Given the description of an element on the screen output the (x, y) to click on. 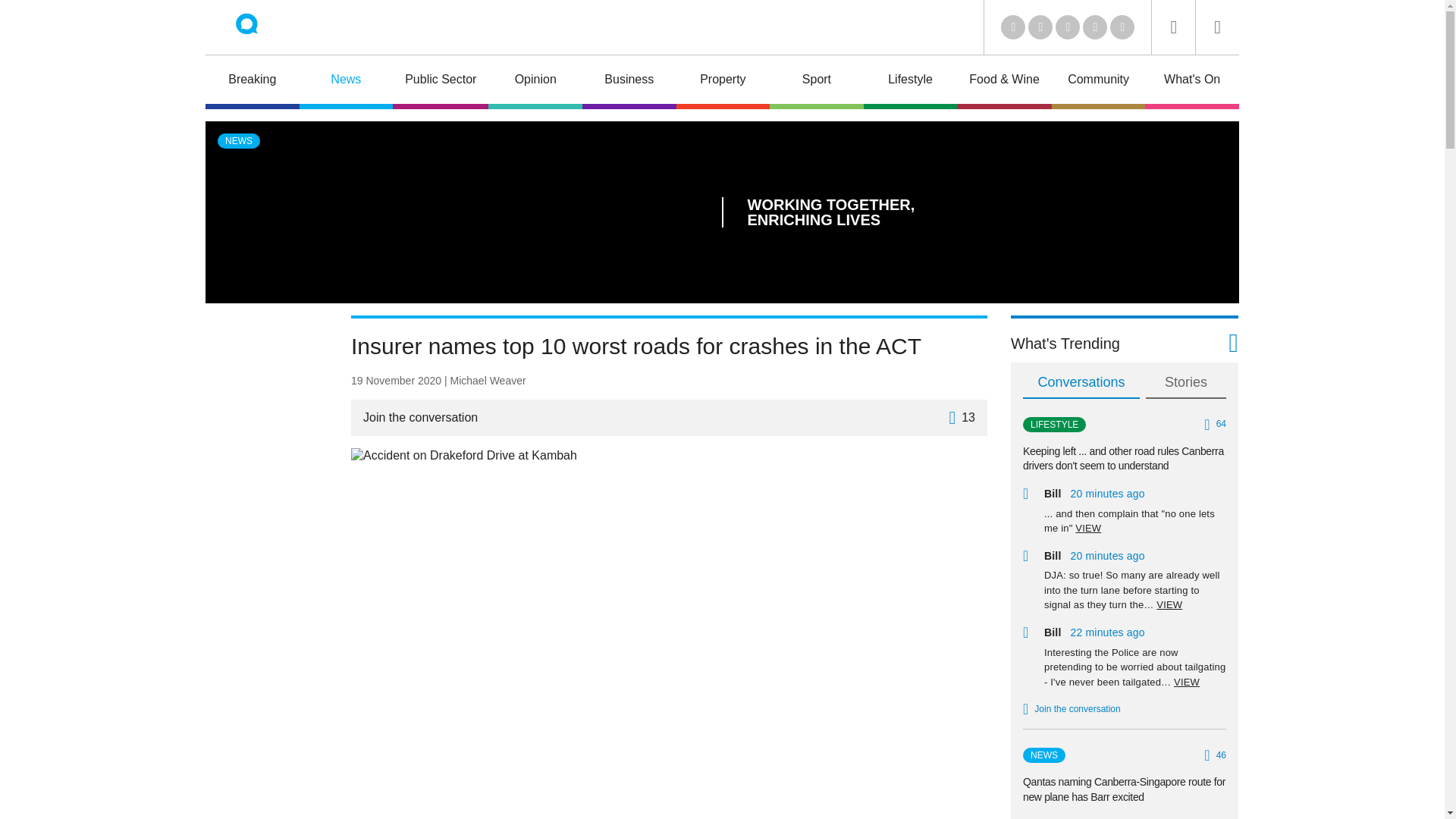
Breaking (252, 81)
Youtube (1067, 27)
News (346, 81)
Instagram (1121, 27)
Facebook (1094, 27)
LinkedIn (1013, 27)
Riotact Home (267, 26)
Twitter (1039, 27)
